Given the description of an element on the screen output the (x, y) to click on. 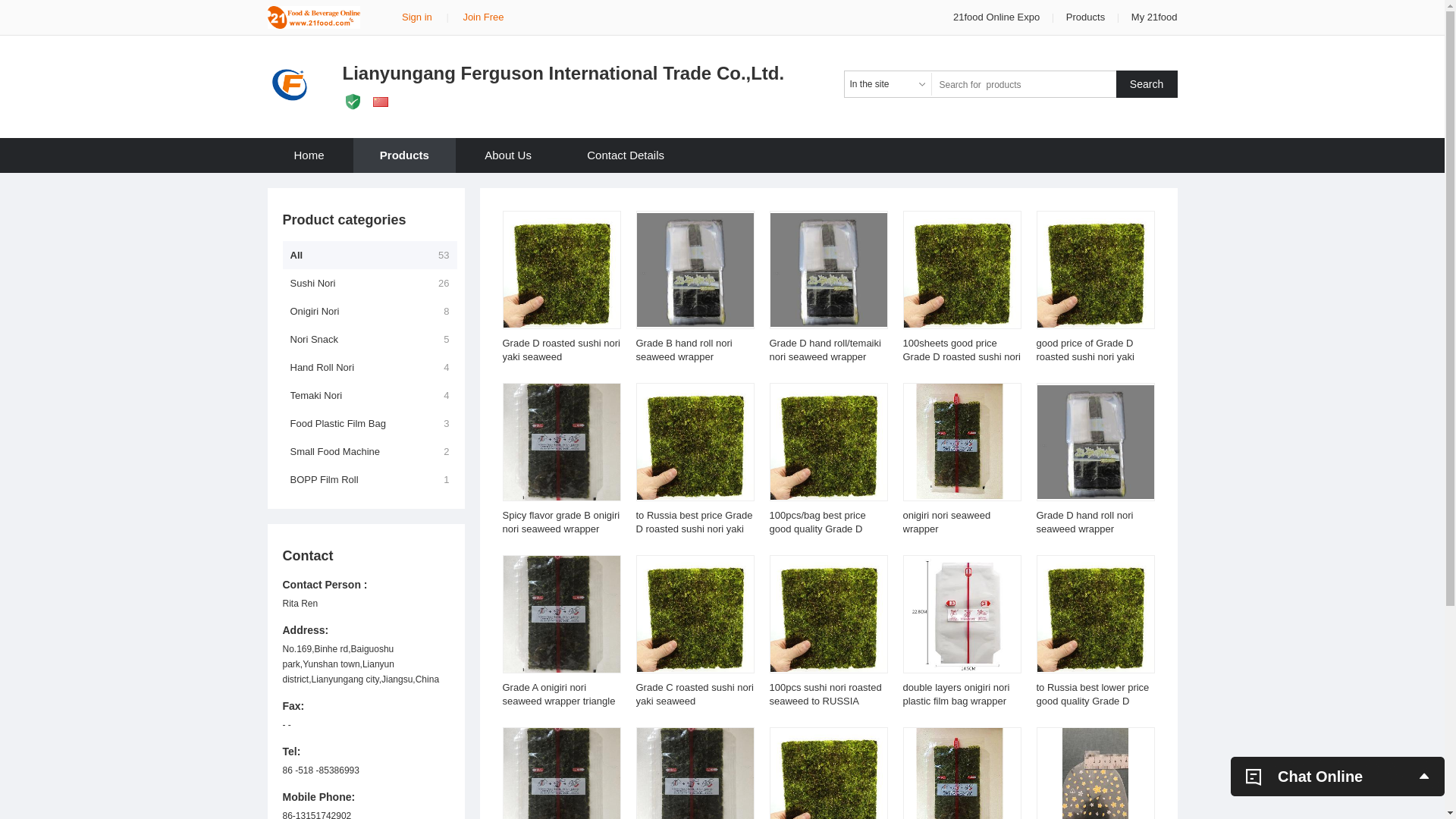
onigiri nori seaweed wrapper Element type: text (946, 521)
100pcs sushi nori roasted seaweed to RUSSIA Element type: text (824, 693)
Grade D hand roll nori seaweed wrapper 100sheets/bag Element type: text (1083, 528)
Products Element type: text (1085, 16)
My 21food Element type: text (1154, 16)
double layers onigiri nori plastic film bag wrapper Element type: text (955, 693)
Search Element type: text (1146, 83)
Grade D hand roll/temaiki nori seaweed wrapper 100sheets/bag Element type: text (824, 356)
Contact Details Element type: text (625, 155)
21food Online Expo Element type: text (997, 16)
Grade C roasted sushi nori yaki seaweed 100sheets/bag Element type: text (694, 700)
About Us Element type: text (508, 155)
Join Free Element type: text (482, 16)
Grade A onigiri nori seaweed wrapper triangle nori wrapper Element type: text (558, 700)
Sign in Element type: text (416, 16)
Grade D roasted sushi nori yaki seaweed 100sheets/bag Element type: text (560, 356)
Home Element type: text (308, 155)
Products Element type: text (404, 155)
Grade B hand roll nori seaweed wrapper 100sheets/bag Element type: text (683, 356)
